Given the description of an element on the screen output the (x, y) to click on. 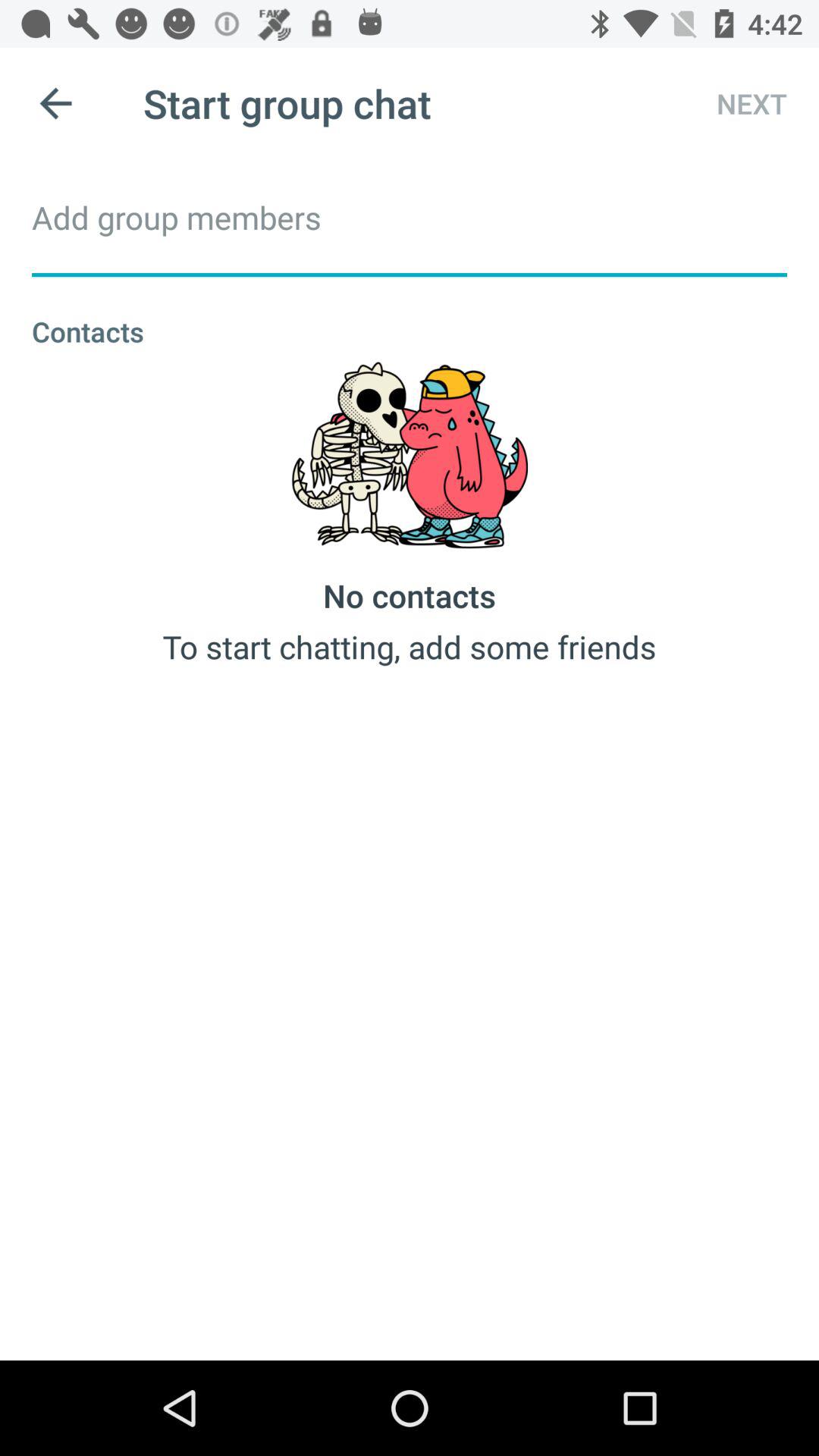
choose the icon next to start group chat item (737, 103)
